Given the description of an element on the screen output the (x, y) to click on. 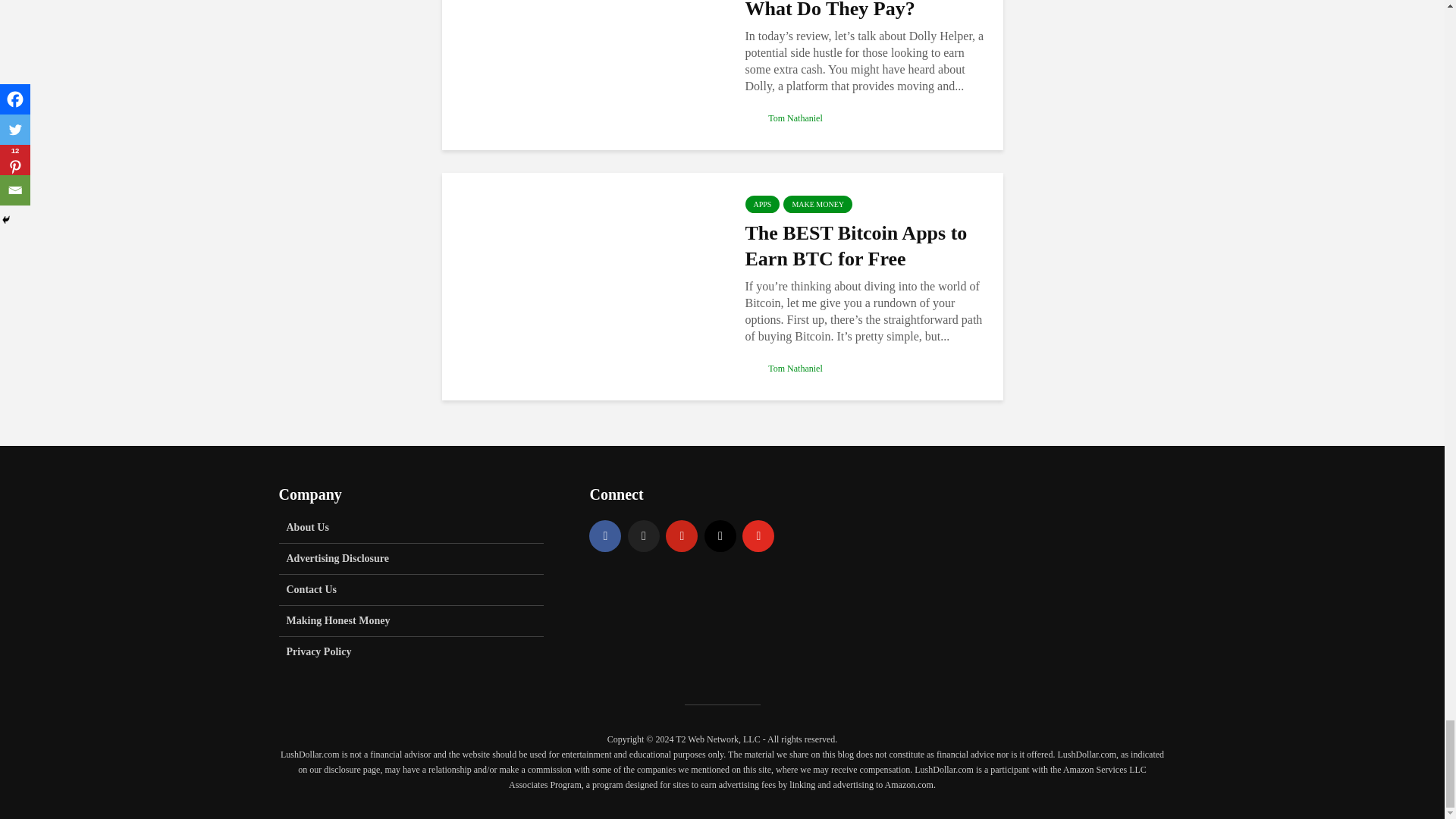
The BEST Bitcoin Apps to Earn BTC for Free (581, 285)
Facebook (605, 536)
Dolly Helper App Reviews: What Do They Pay? (581, 34)
